Given the description of an element on the screen output the (x, y) to click on. 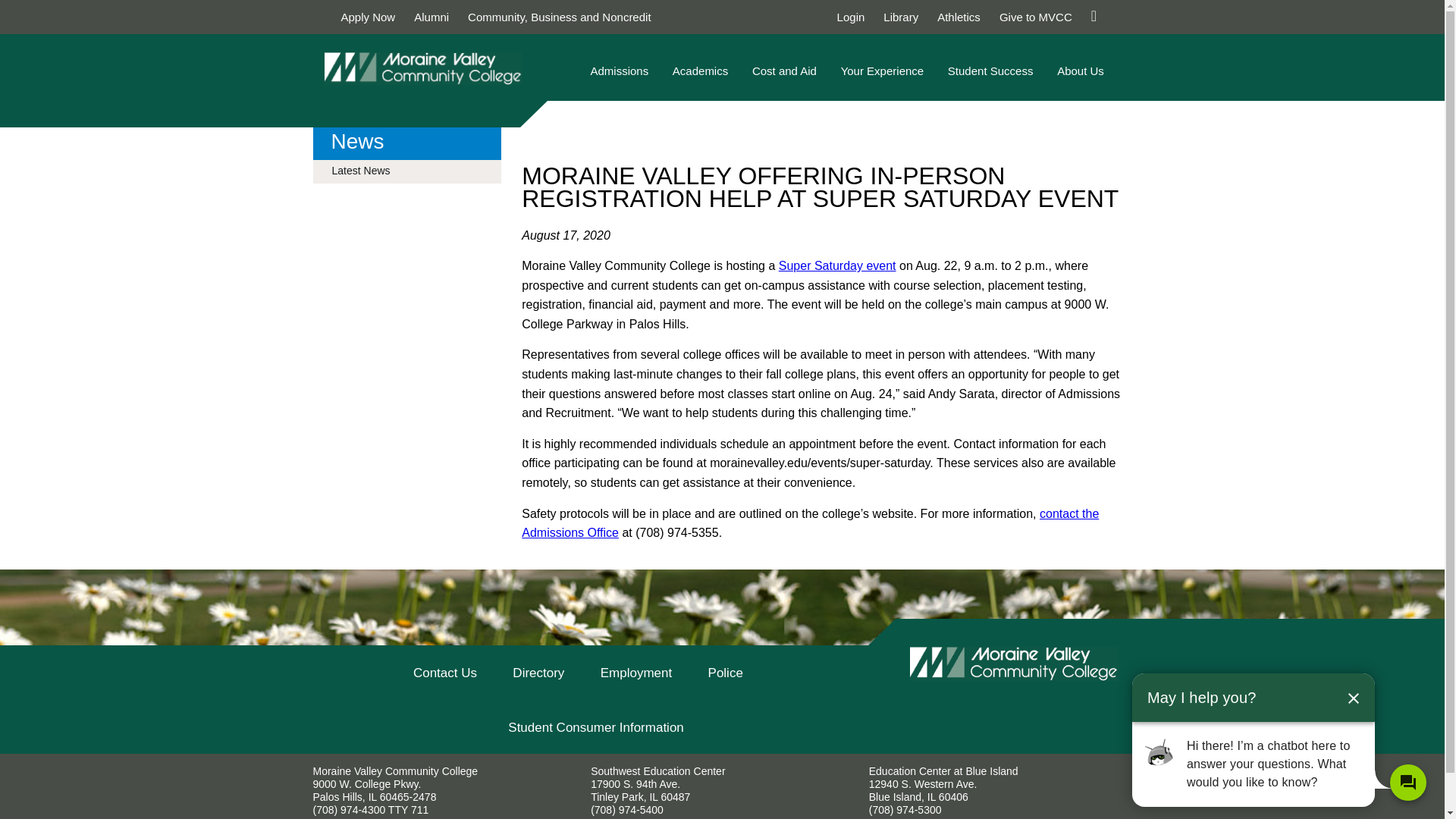
Apply Now (368, 16)
Login (850, 16)
Alumni (430, 16)
Athletics (958, 16)
Give to MVCC (1034, 16)
Academics (699, 78)
Library (900, 16)
Admissions (619, 78)
Community, Business and Noncredit (558, 16)
